Given the description of an element on the screen output the (x, y) to click on. 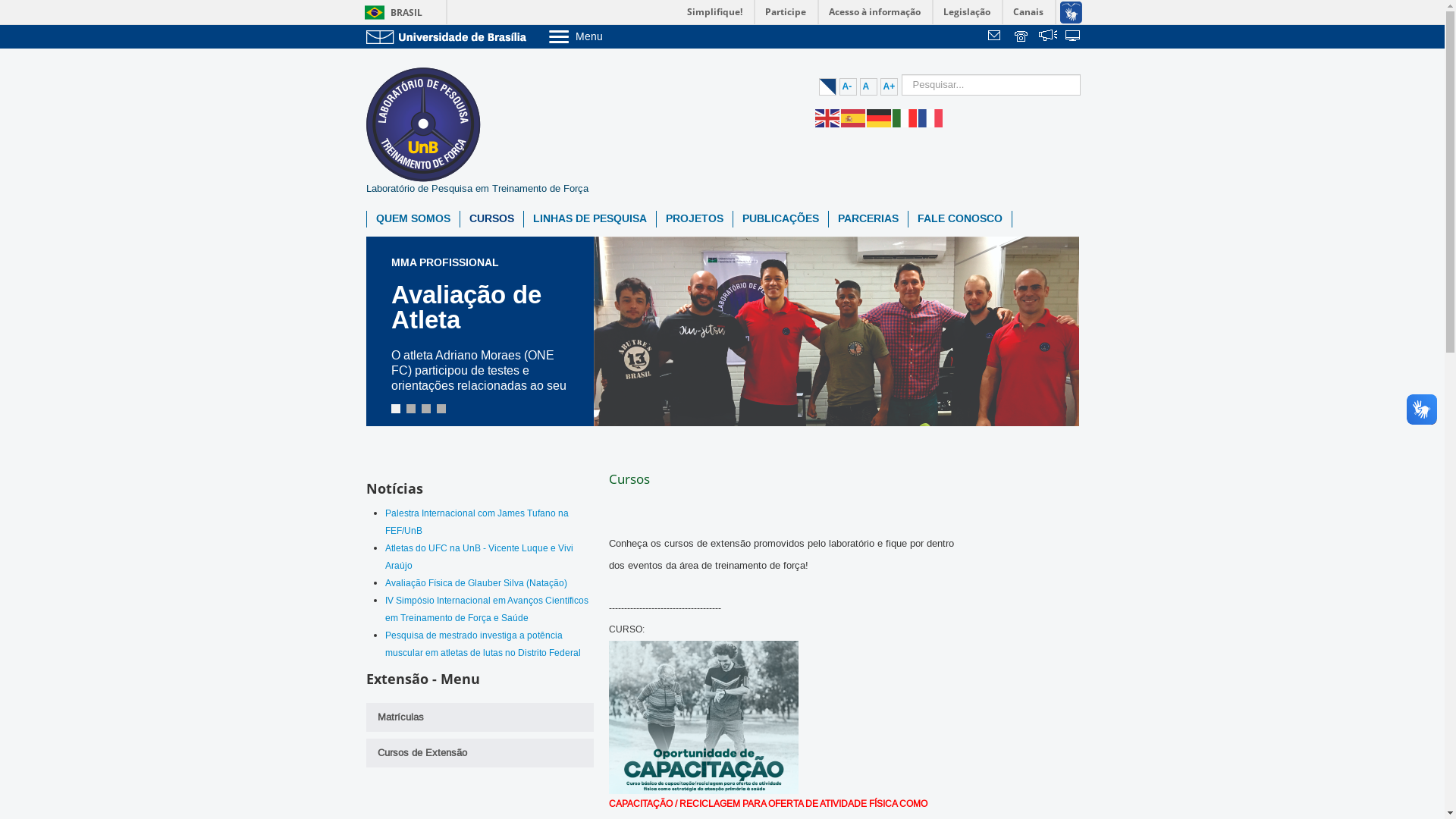
Menu Element type: text (613, 35)
A Element type: text (868, 86)
A- Element type: text (847, 86)
  Element type: text (1022, 37)
Ir para o Portal da UnB Element type: hover (448, 36)
  Element type: text (1073, 37)
CURSOS Element type: text (490, 218)
LINHAS DE PESQUISA Element type: text (589, 218)
PROJETOS Element type: text (694, 218)
Webmail Element type: hover (996, 37)
Sistemas Element type: hover (1073, 37)
BRASIL Element type: text (389, 12)
  Element type: text (996, 37)
Deutsch Element type: hover (878, 117)
Telefones da UnB Element type: hover (1022, 37)
FALE CONOSCO Element type: text (959, 218)
Palestra Internacional com James Tufano na FEF/UnB Element type: text (476, 521)
Fala.BR Element type: hover (1047, 37)
Italiano Element type: hover (904, 117)
  Element type: text (1047, 37)
A+ Element type: text (888, 86)
English Element type: hover (827, 117)
QUEM SOMOS Element type: text (413, 218)
PARCERIAS Element type: text (867, 218)
